Given the description of an element on the screen output the (x, y) to click on. 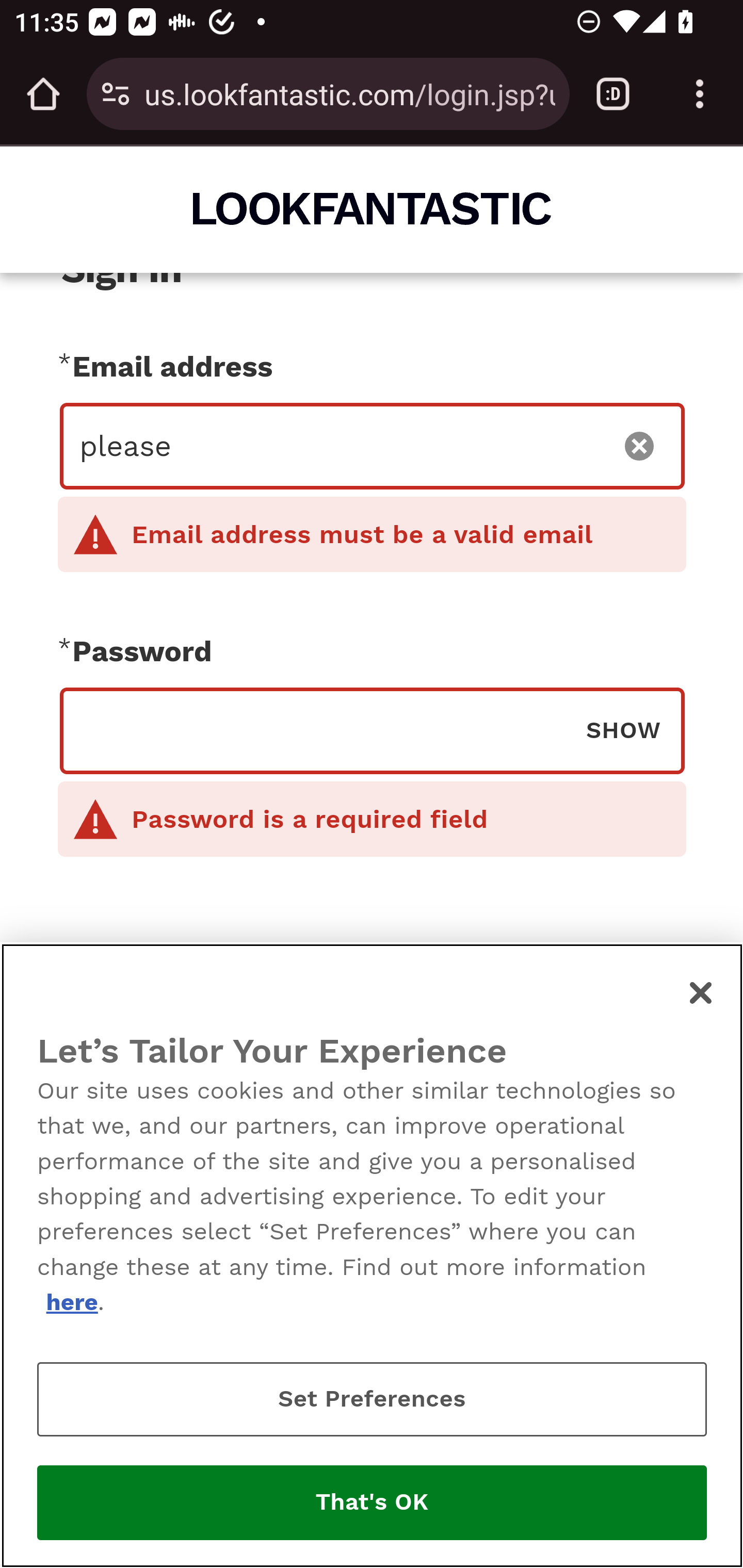
Open the home page (43, 93)
Connection is secure (115, 93)
Switch or close tabs (612, 93)
Customize and control Google Chrome (699, 93)
Lookfantastic USA Home page (372, 208)
please (339, 445)
Clear field (639, 445)
Show Password (623, 729)
Close (701, 992)
Sign in to your account (371, 1070)
here (71, 1302)
Set Preferences (372, 1399)
That's OK (372, 1502)
